Given the description of an element on the screen output the (x, y) to click on. 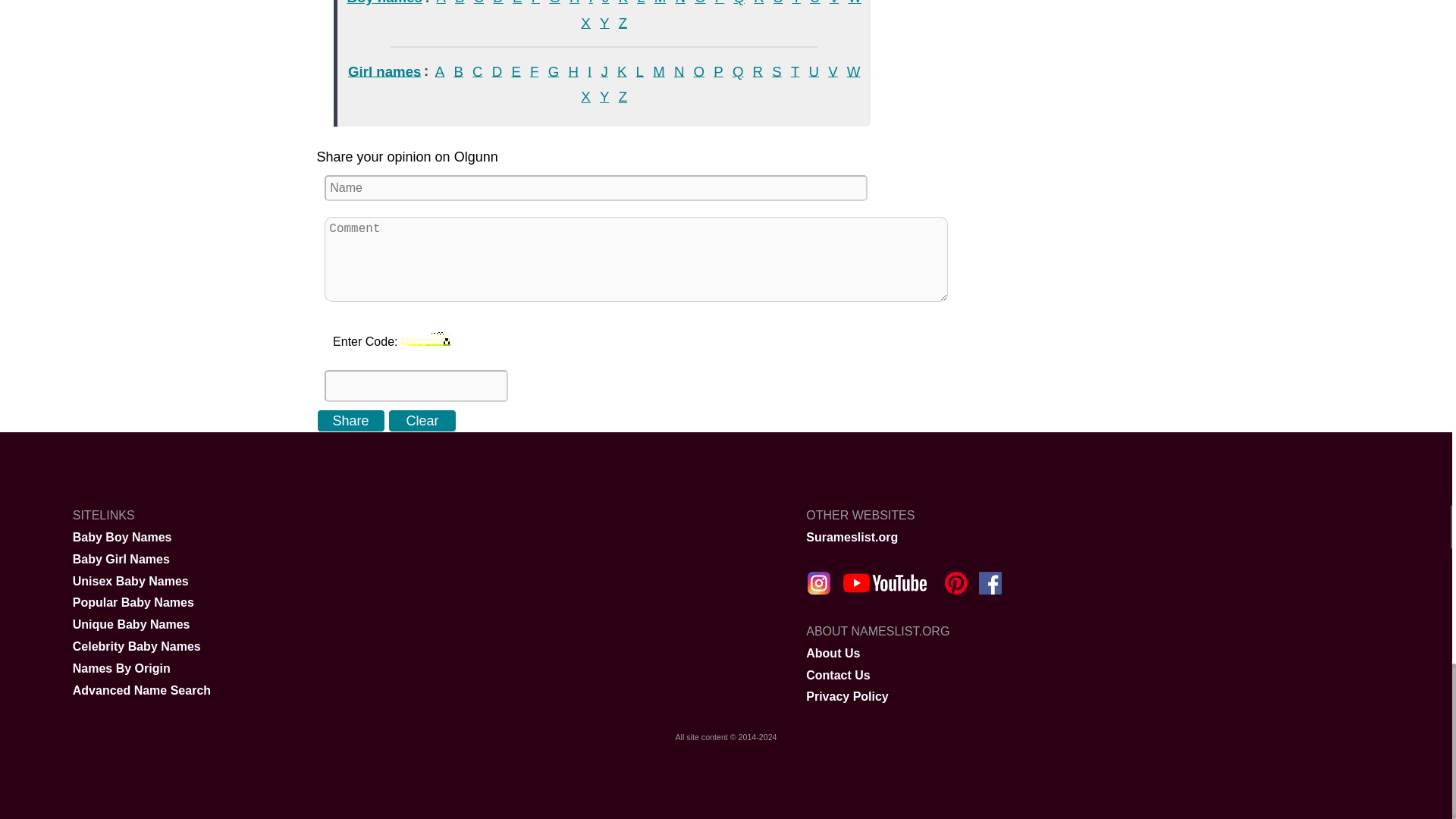
Clear (422, 420)
Share (351, 420)
